Given the description of an element on the screen output the (x, y) to click on. 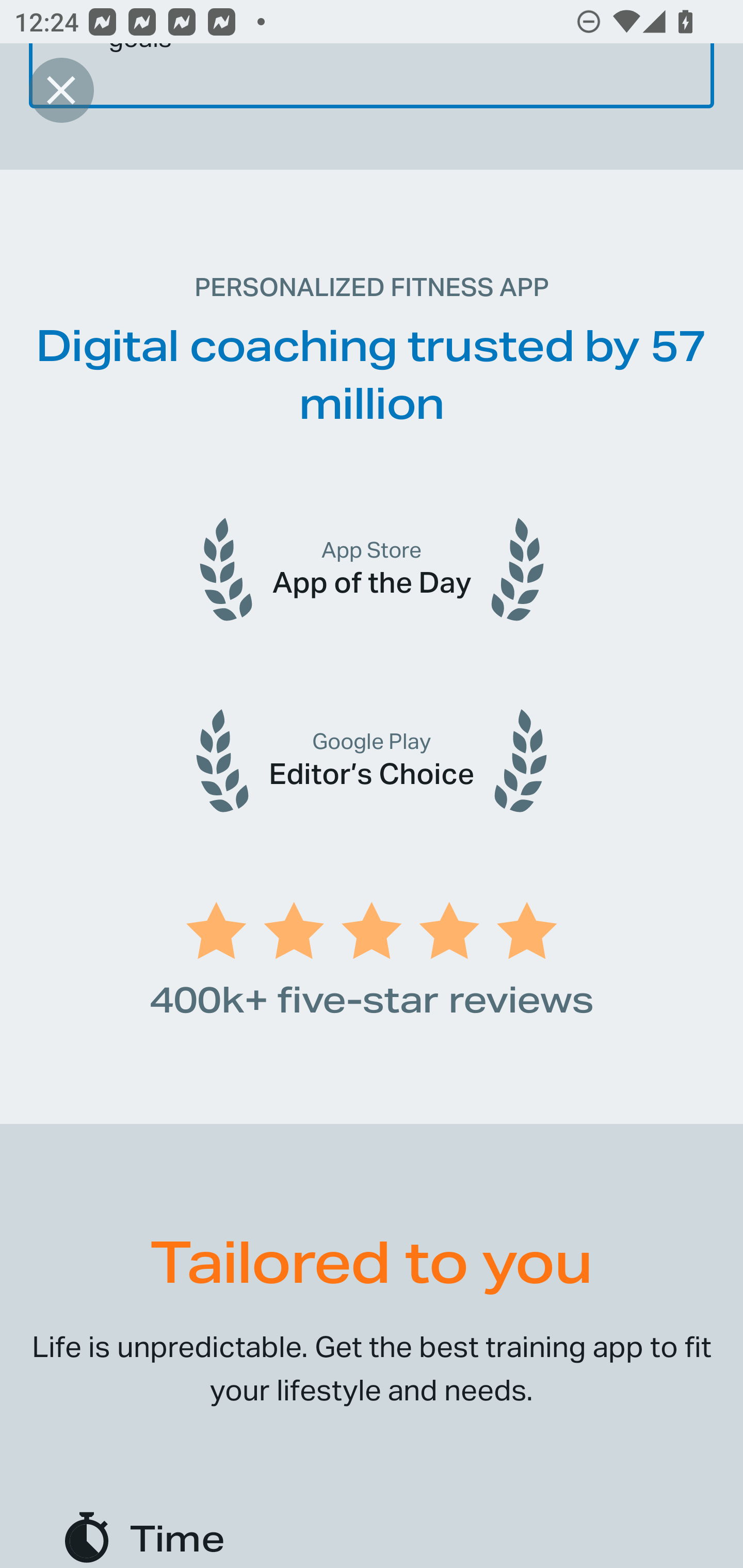
Close (60, 90)
